Given the description of an element on the screen output the (x, y) to click on. 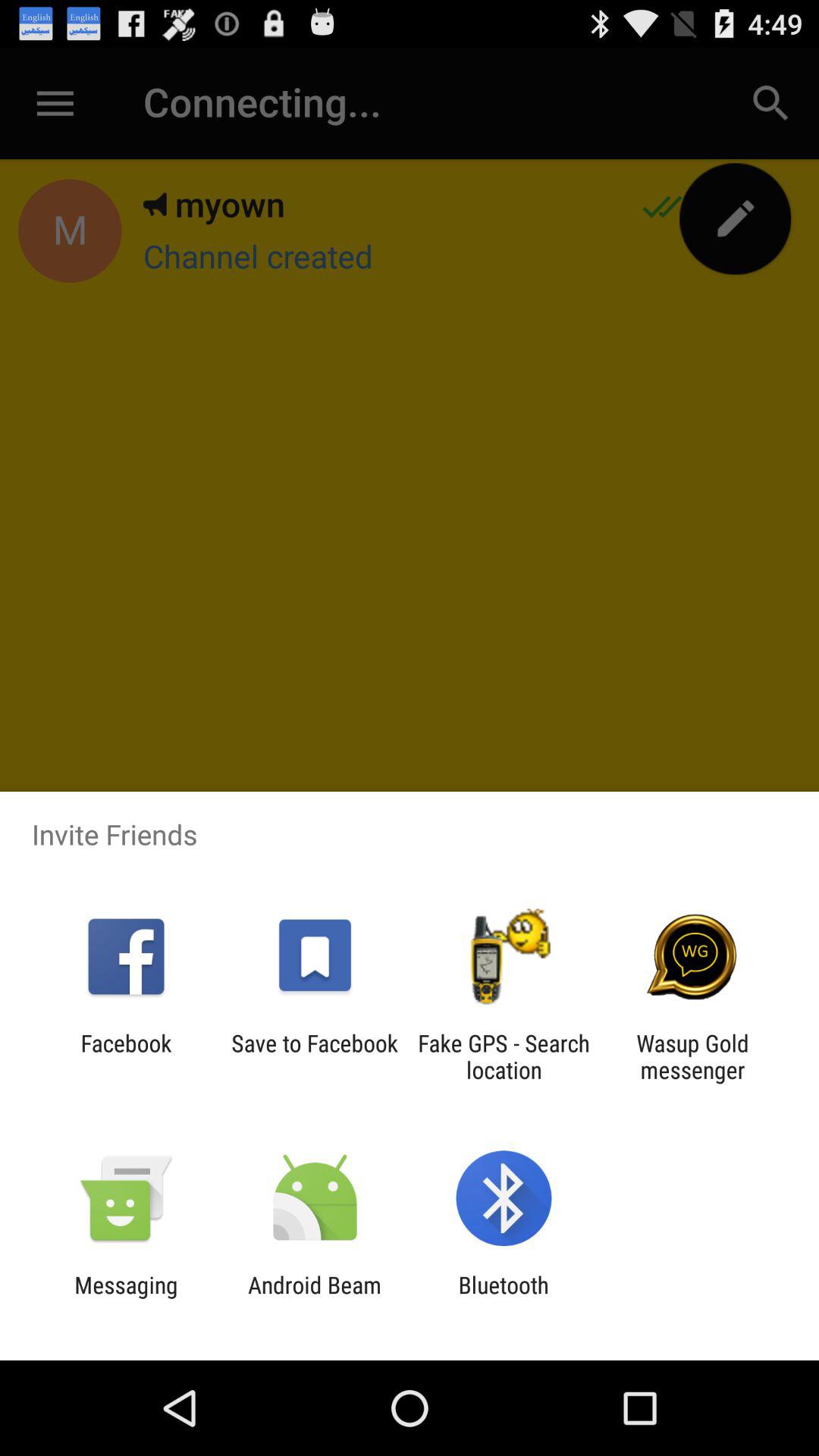
scroll to fake gps search (503, 1056)
